Given the description of an element on the screen output the (x, y) to click on. 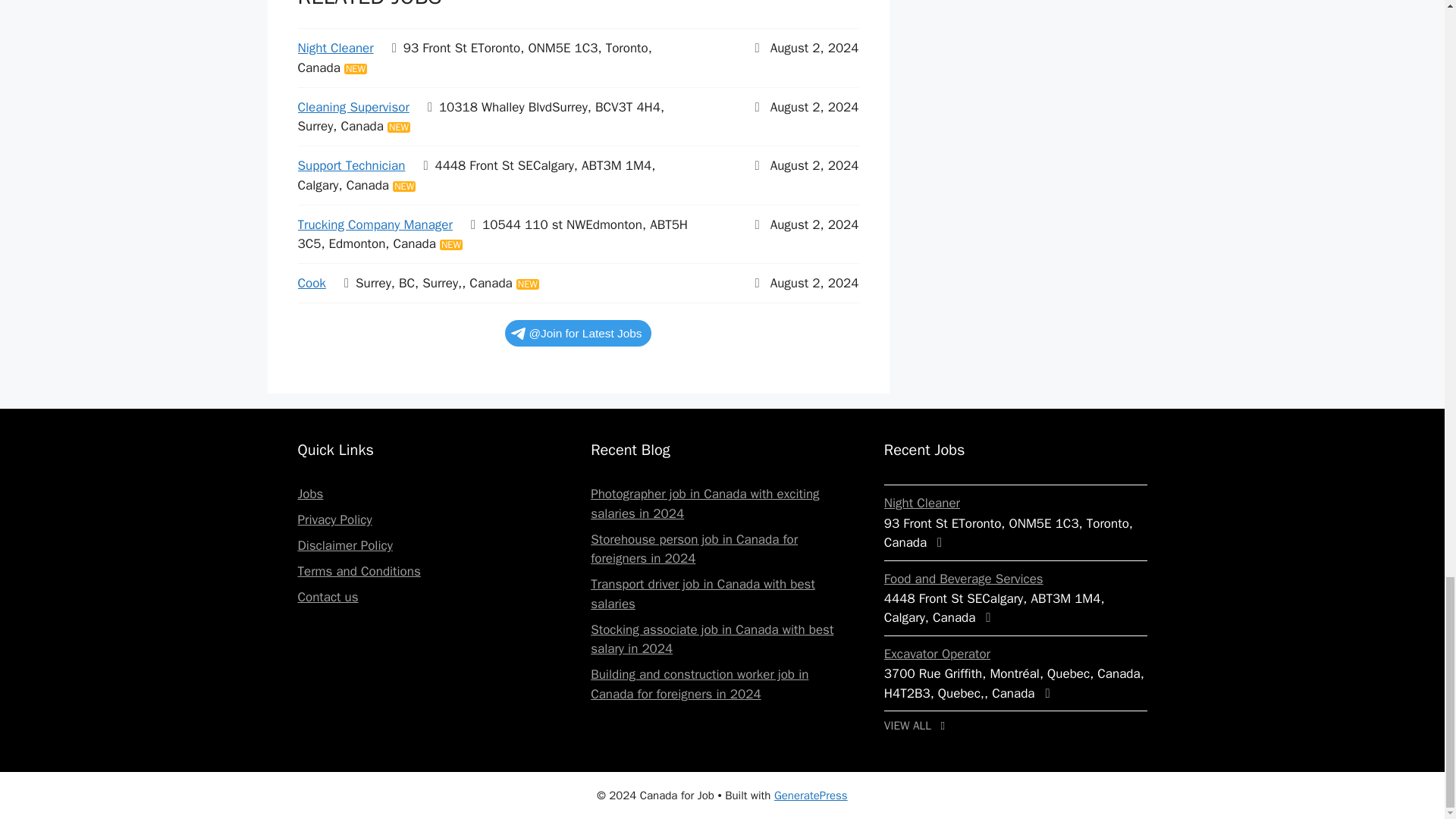
Night Cleaner (334, 48)
Support Technician (350, 165)
Cook (310, 283)
Trucking Company Manager (374, 224)
Cleaning Supervisor (353, 107)
